Given the description of an element on the screen output the (x, y) to click on. 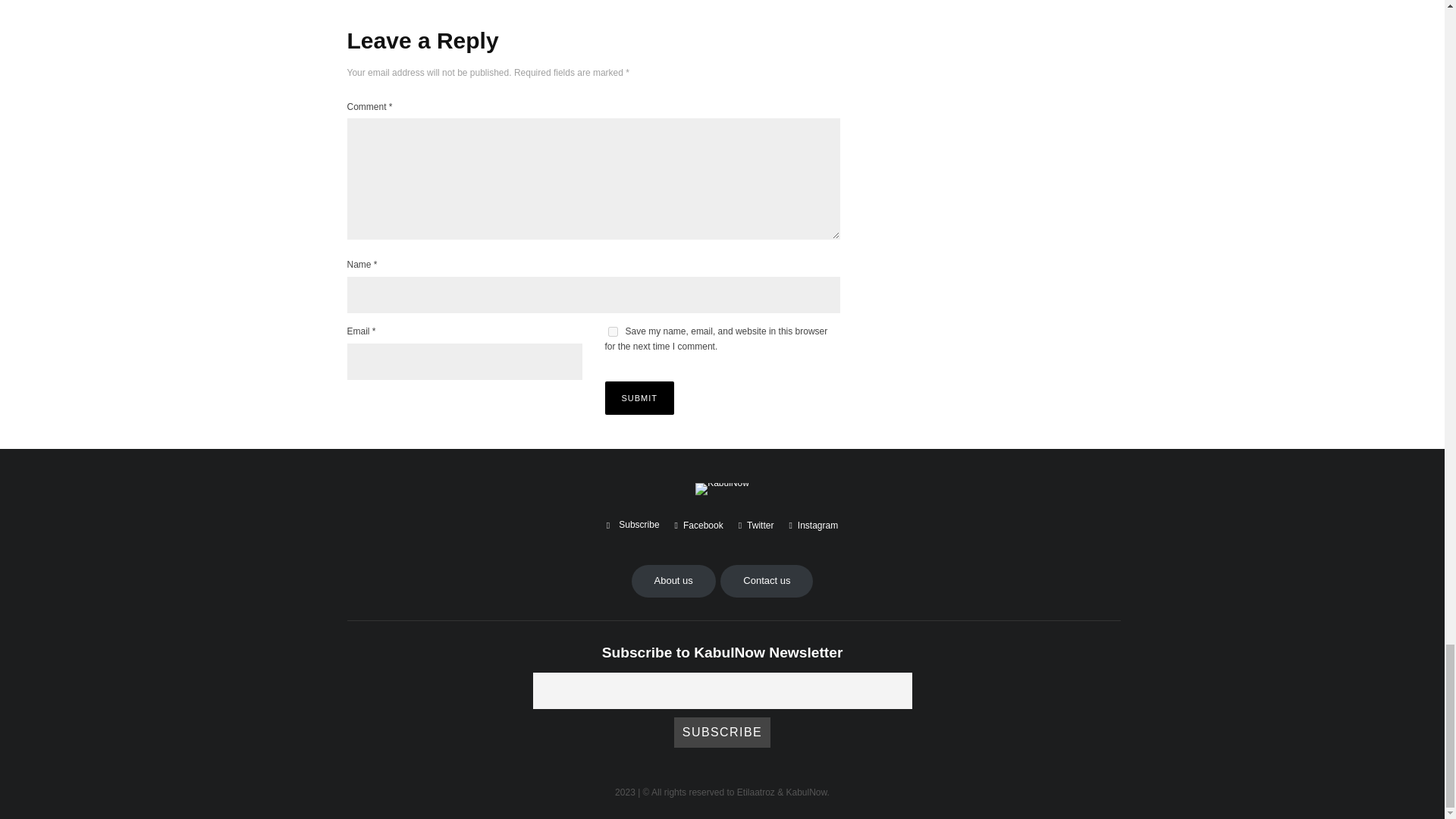
Submit (640, 397)
Subscribe (722, 732)
yes (612, 331)
